Given the description of an element on the screen output the (x, y) to click on. 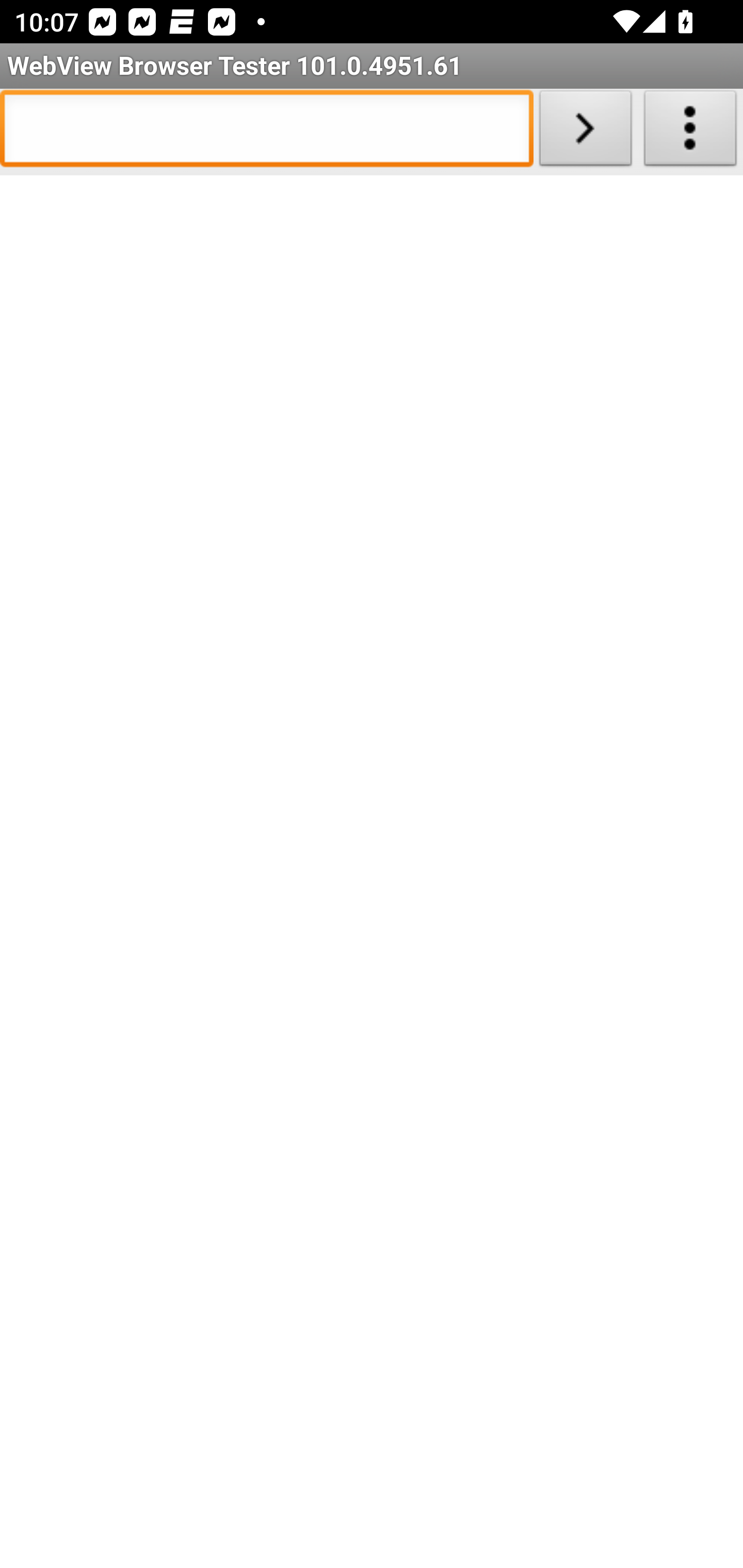
Load URL (585, 132)
About WebView (690, 132)
